Given the description of an element on the screen output the (x, y) to click on. 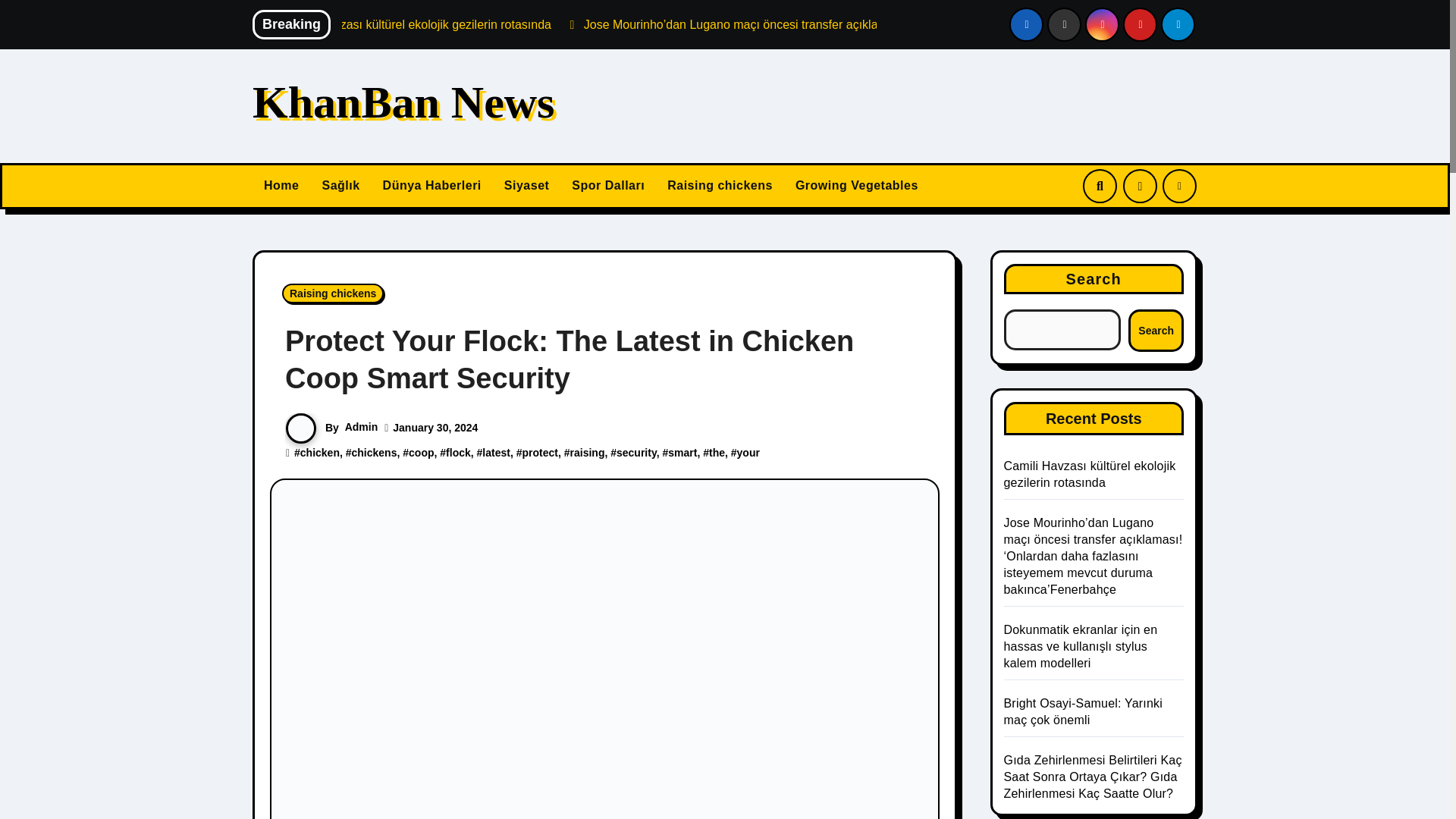
the (717, 452)
flock (457, 452)
smart (682, 452)
your (748, 452)
chicken (319, 452)
Raising chickens (720, 186)
raising (587, 452)
Raising chickens (720, 186)
coop (421, 452)
Raising chickens (333, 293)
Admin (361, 426)
Siyaset (526, 186)
Home (280, 186)
Siyaset (526, 186)
